Given the description of an element on the screen output the (x, y) to click on. 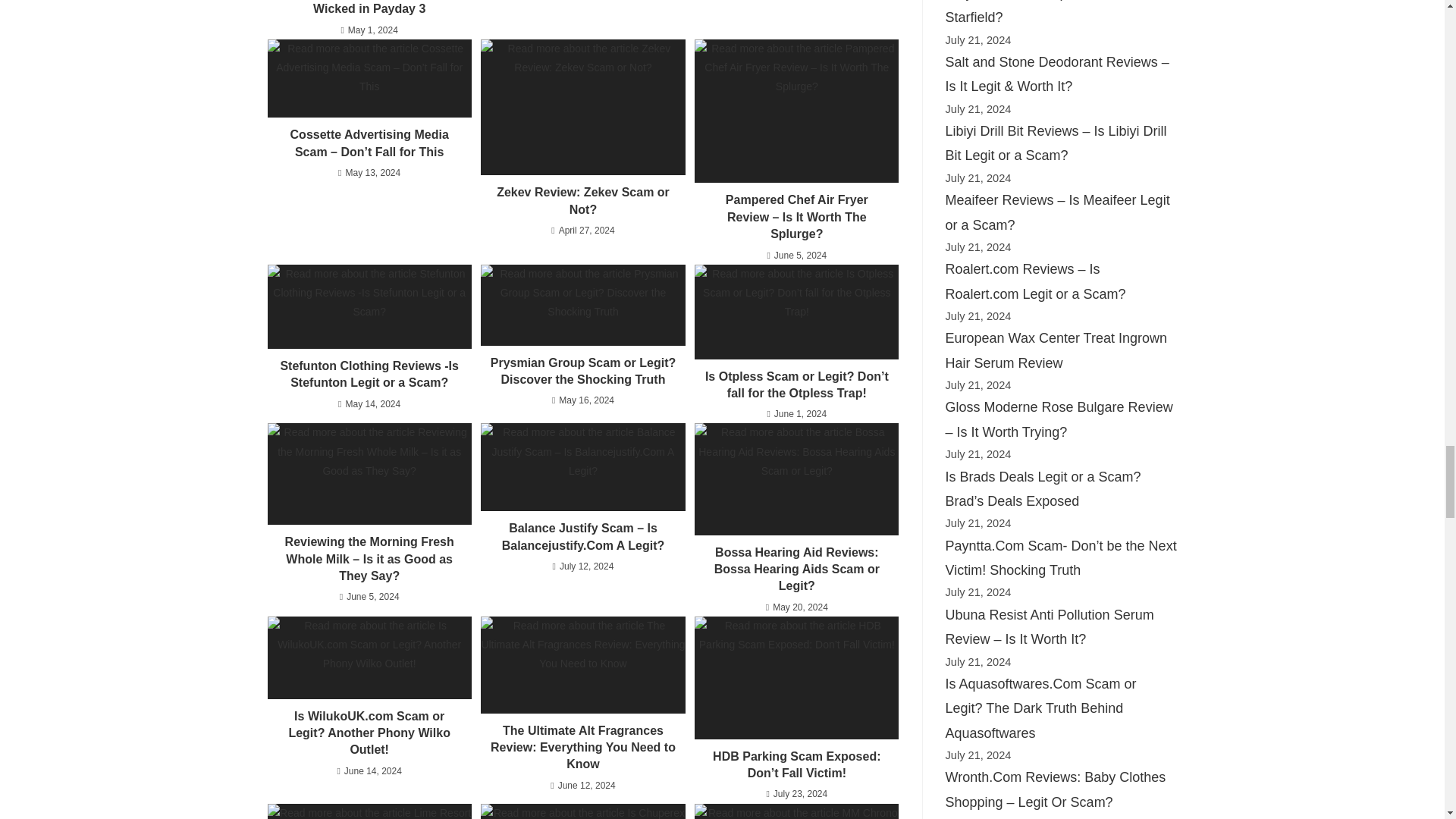
Cossette Advertising Media Scam - Don't Fall for This (368, 78)
Zekev Review: Zekev Scam or Not? (582, 107)
